Given the description of an element on the screen output the (x, y) to click on. 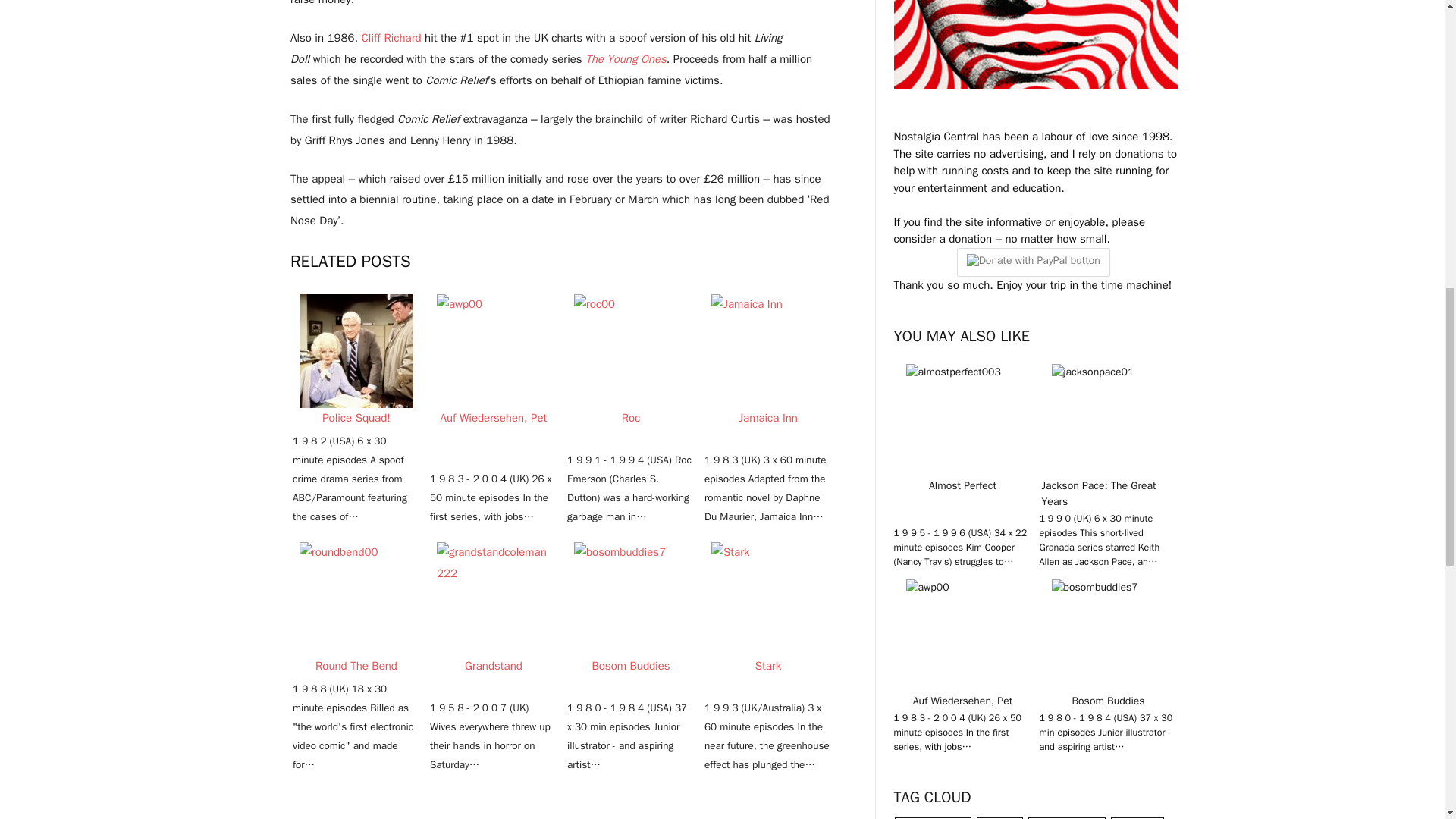
Auf Wiedersehen, Pet (493, 350)
Roc (630, 350)
Police Squad! (356, 350)
